Given the description of an element on the screen output the (x, y) to click on. 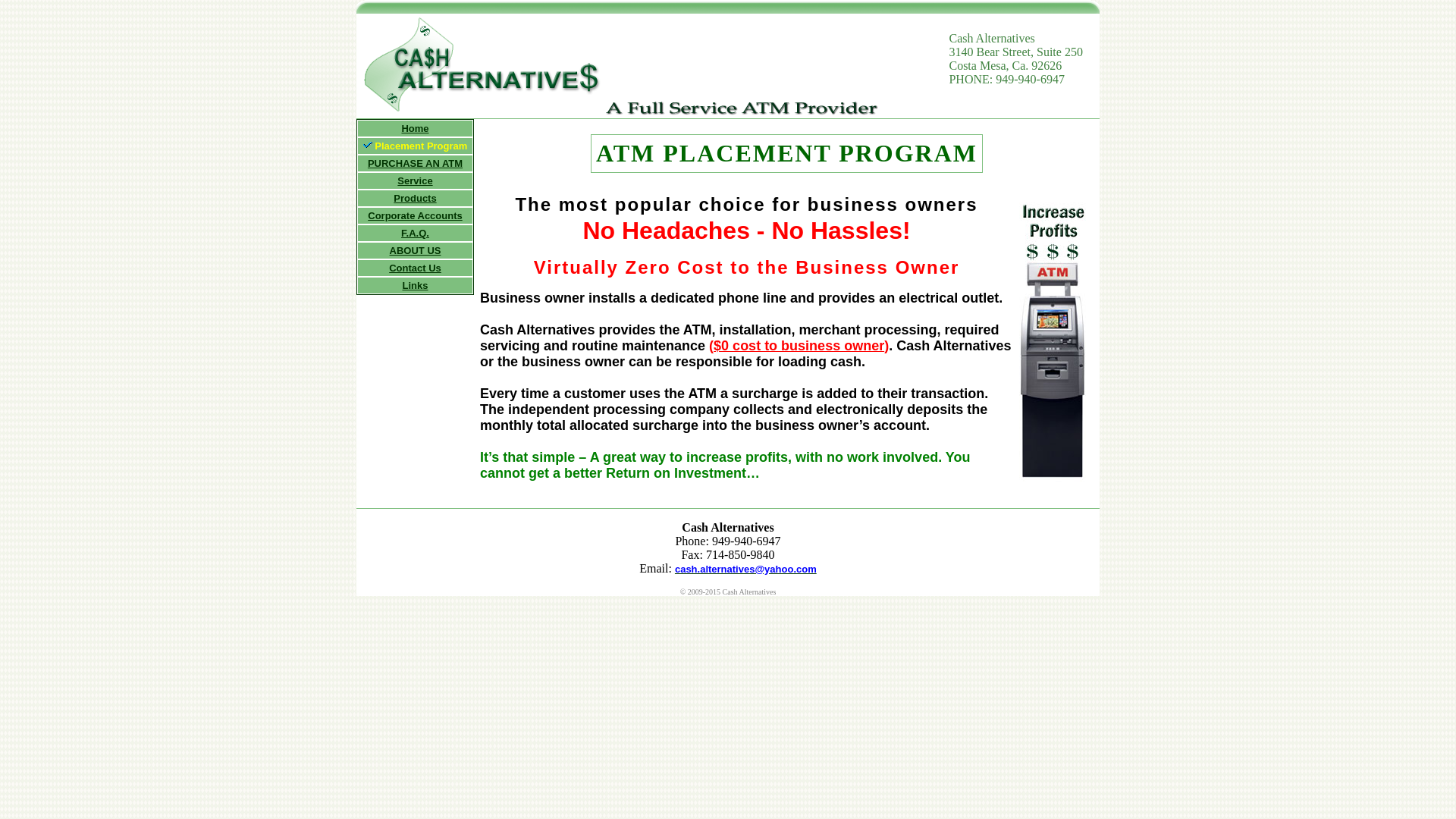
Products (414, 197)
Corporate Accounts (414, 215)
PURCHASE AN ATM (415, 163)
ABOUT US (415, 250)
Service (414, 180)
F.A.Q. (415, 233)
Home (414, 128)
Links (415, 285)
Contact Us (414, 267)
